Given the description of an element on the screen output the (x, y) to click on. 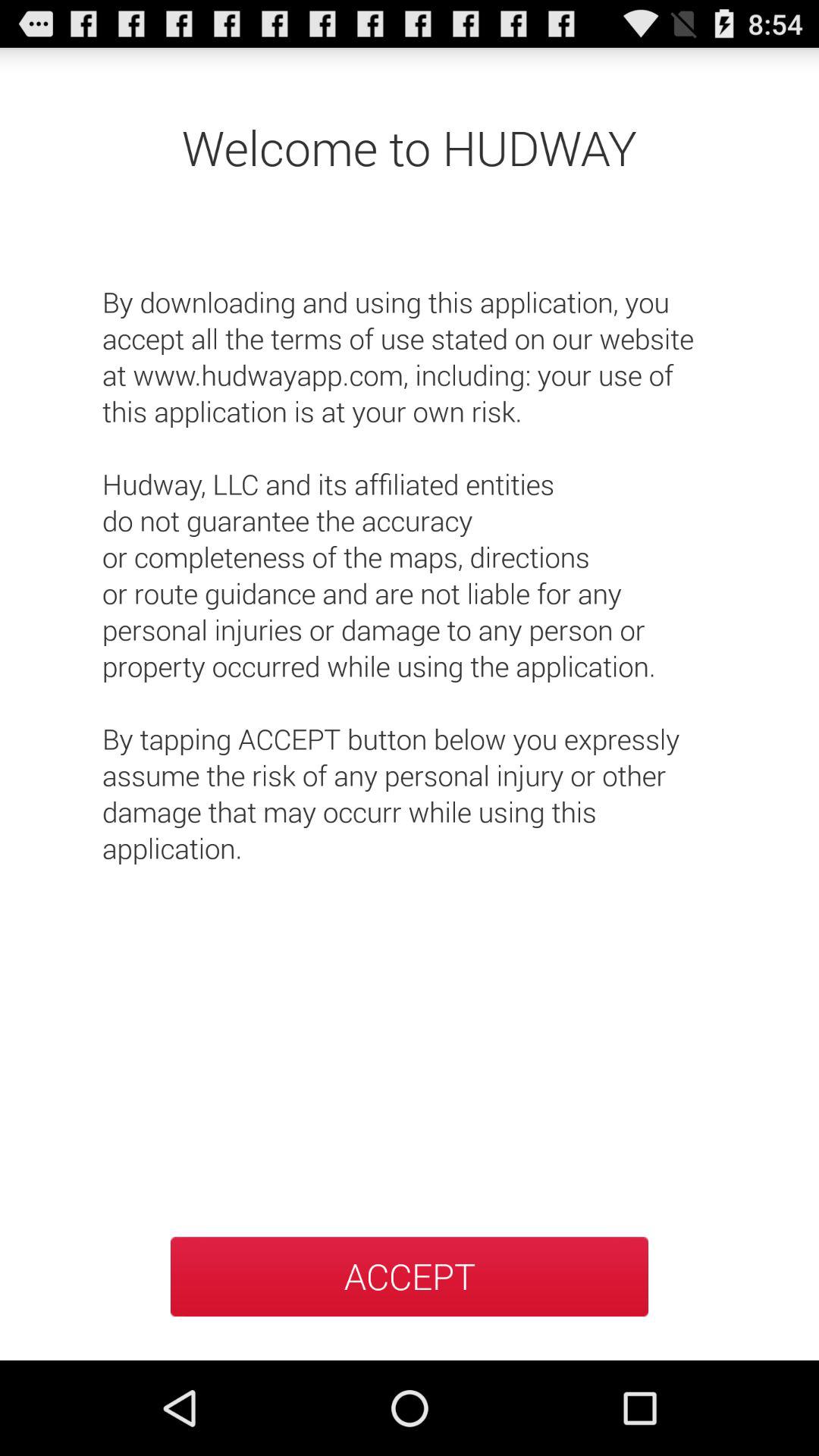
choose the item below the welcome to hudway icon (409, 556)
